Given the description of an element on the screen output the (x, y) to click on. 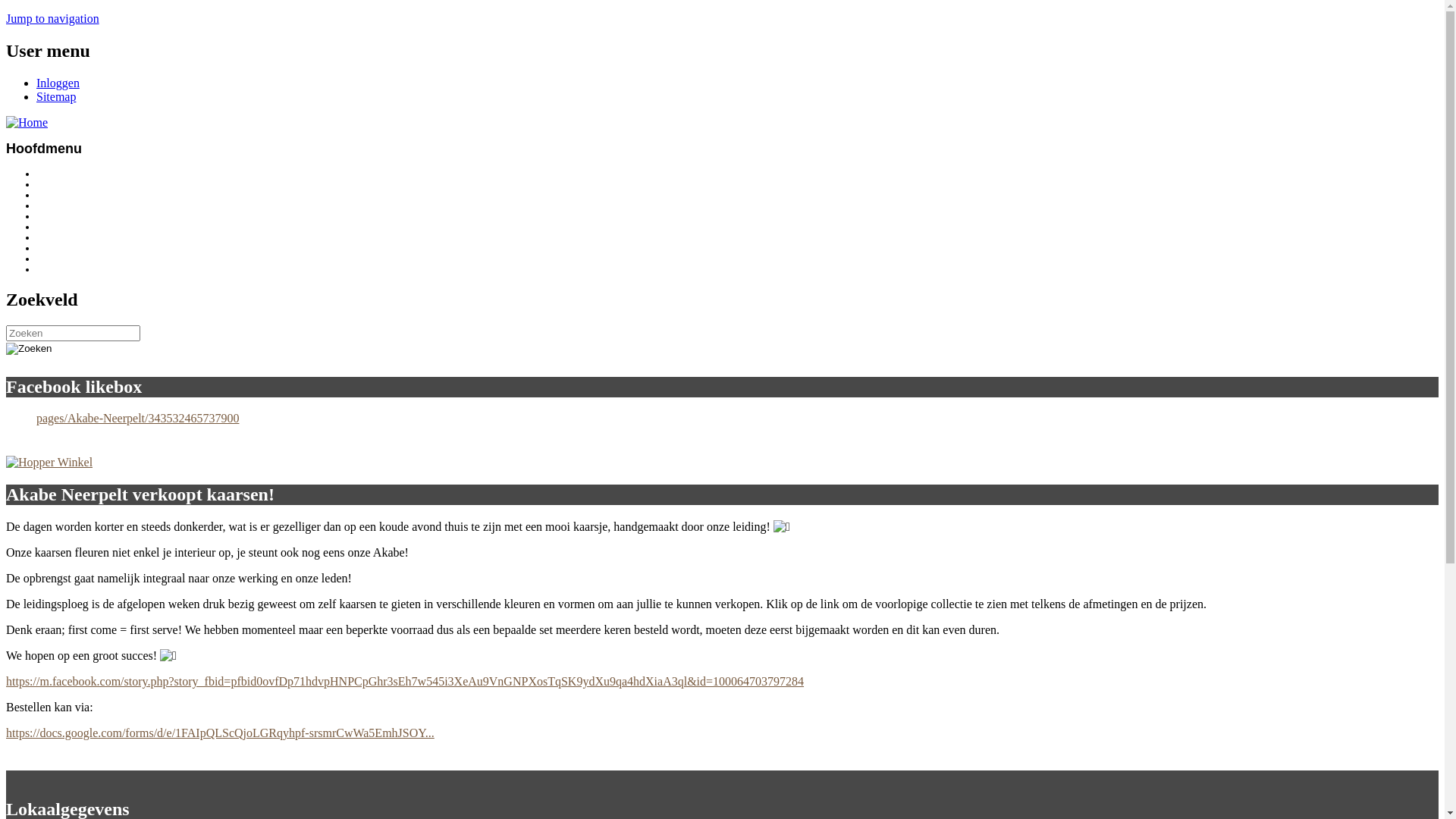
Home Element type: hover (26, 122)
Contact Element type: text (51, 258)
Inloggen Element type: text (57, 82)
Geef de woorden op waarnaar u wilt zoeken. Element type: hover (73, 332)
Leiding Element type: text (50, 215)
Individuele steekkaart Element type: text (80, 268)
Over Akabe Element type: text (60, 194)
Home Element type: text (48, 173)
Lokaalverhuur Element type: text (65, 247)
Jump to navigation Element type: text (52, 18)
Media Element type: text (48, 237)
Takken Element type: text (50, 205)
Sitemap Element type: text (55, 96)
Activiteiten Element type: text (58, 226)
Nieuws Element type: text (50, 183)
pages/Akabe-Neerpelt/343532465737900 Element type: text (137, 417)
